Given the description of an element on the screen output the (x, y) to click on. 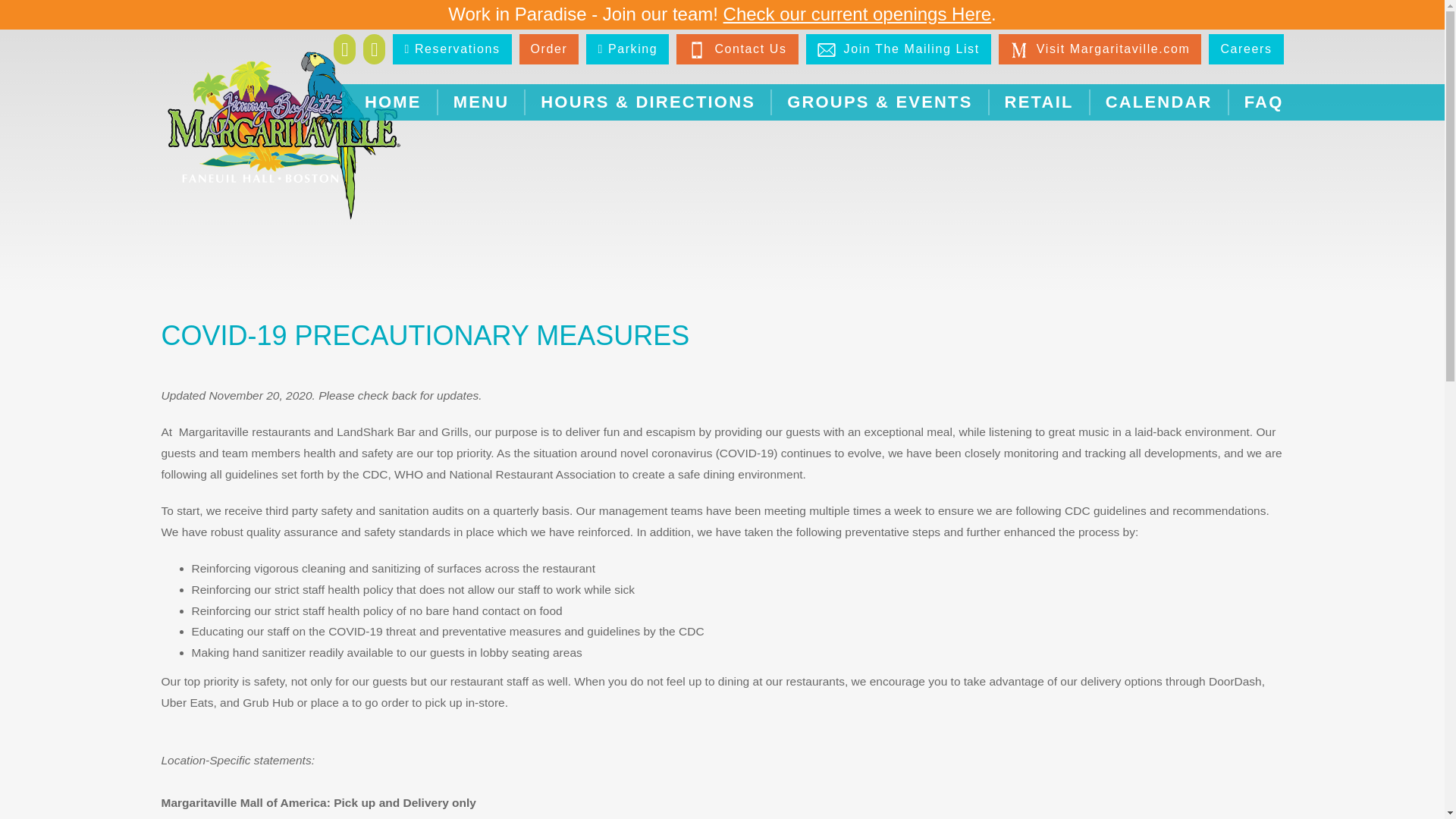
CALENDAR (1158, 102)
Visit Margaritaville.com (1100, 49)
Join The Mailing List (898, 49)
Contact Us (696, 49)
Order (548, 49)
Check our current openings Here (857, 14)
952-800-4422 (197, 818)
FAQ (1263, 102)
Mailing List (825, 49)
RETAIL (1039, 102)
MENU (481, 102)
Margaritaville (1018, 49)
Reservations (452, 49)
Careers (1245, 49)
